Given the description of an element on the screen output the (x, y) to click on. 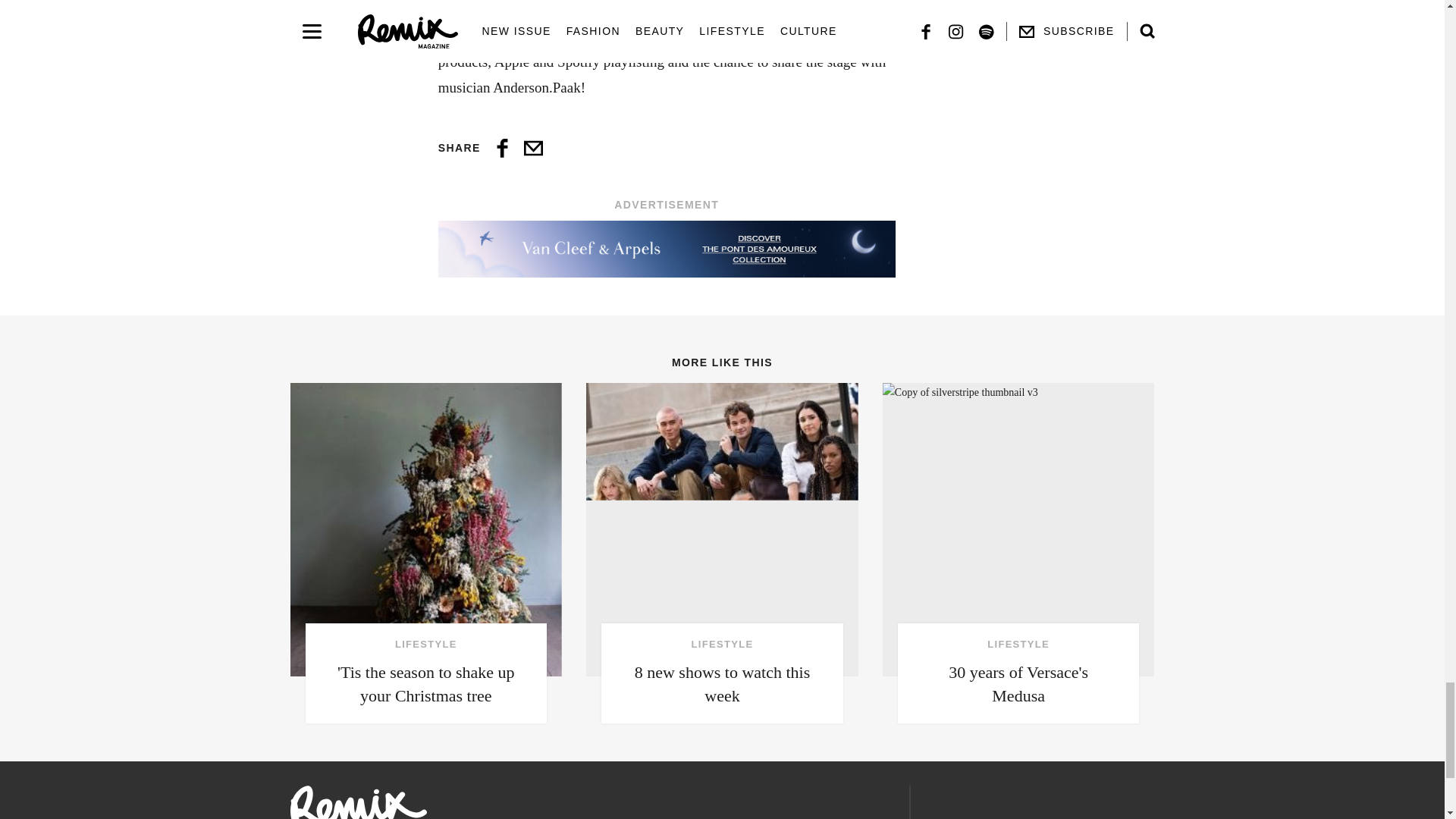
vca july leaderboard 2024 (666, 248)
Copy to clipboard (533, 148)
Share to Facebook (502, 148)
Navigate to Celebrating 30 years of Gianni Versace's Medusa  (1018, 553)
Navigate to 'Tis the season to shake up your Christmas tree (425, 553)
